Given the description of an element on the screen output the (x, y) to click on. 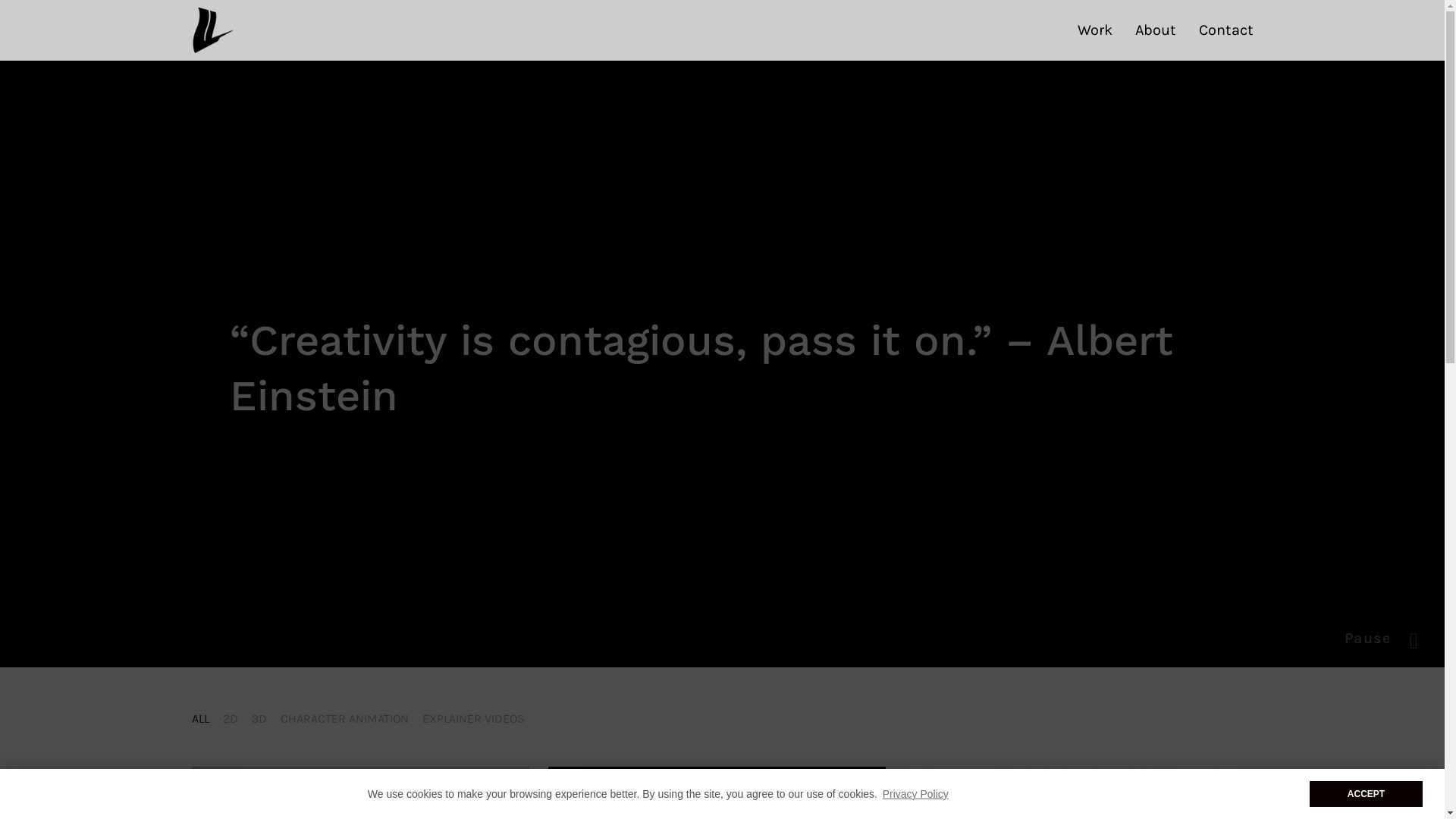
ALL Element type: text (199, 718)
2D Element type: text (230, 718)
Contact Element type: text (1225, 30)
About Element type: text (1154, 30)
Privacy Policy Element type: text (914, 793)
Pause Element type: text (1367, 637)
ACCEPT Element type: text (1365, 793)
CHARACTER ANIMATION Element type: text (344, 718)
3D Element type: text (258, 718)
Work Element type: text (1093, 30)
EXPLAINER VIDEOS Element type: text (472, 718)
